Given the description of an element on the screen output the (x, y) to click on. 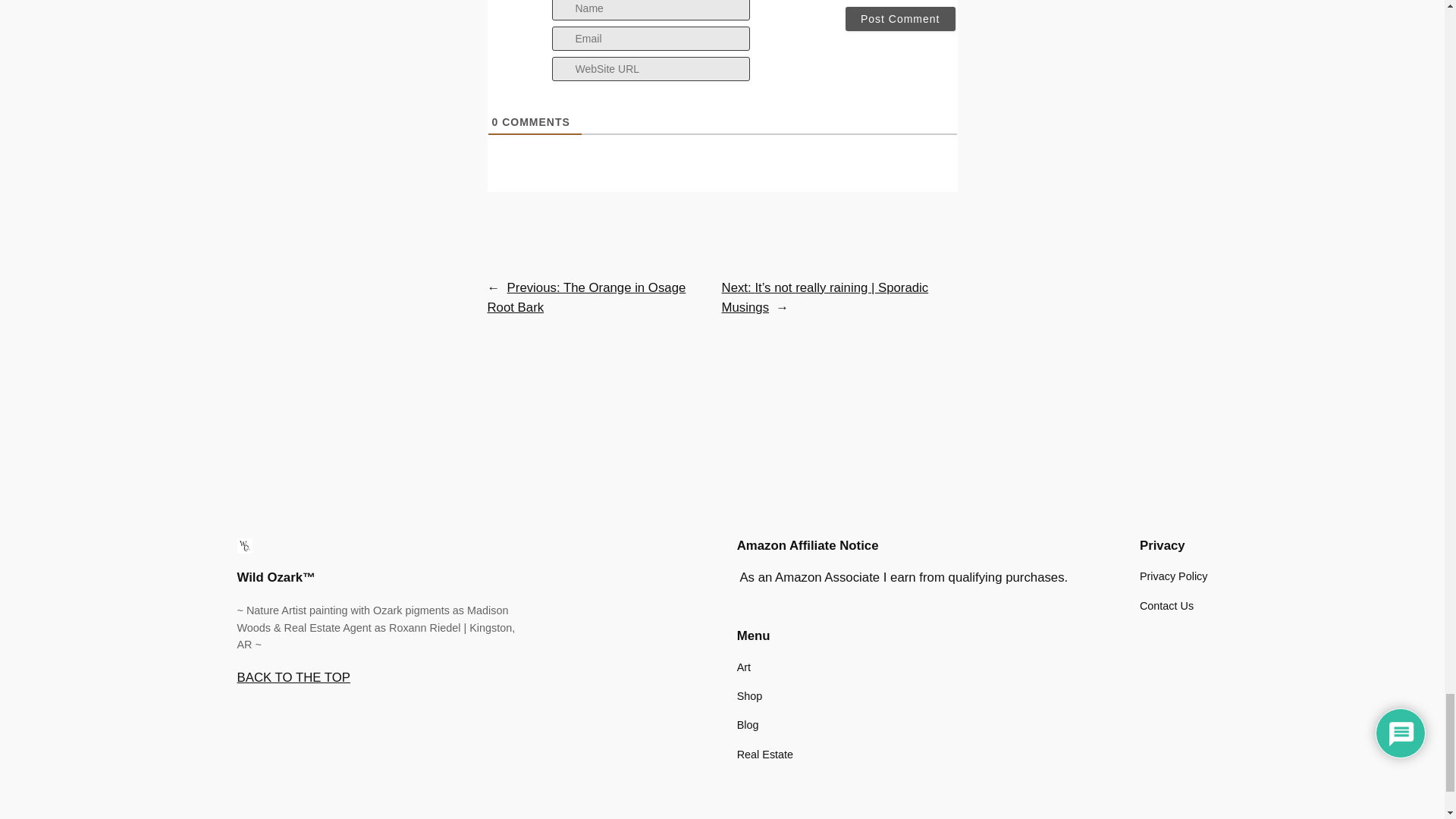
Post Comment (900, 18)
Previous: The Orange in Osage Root Bark (585, 297)
Post Comment (900, 18)
